Given the description of an element on the screen output the (x, y) to click on. 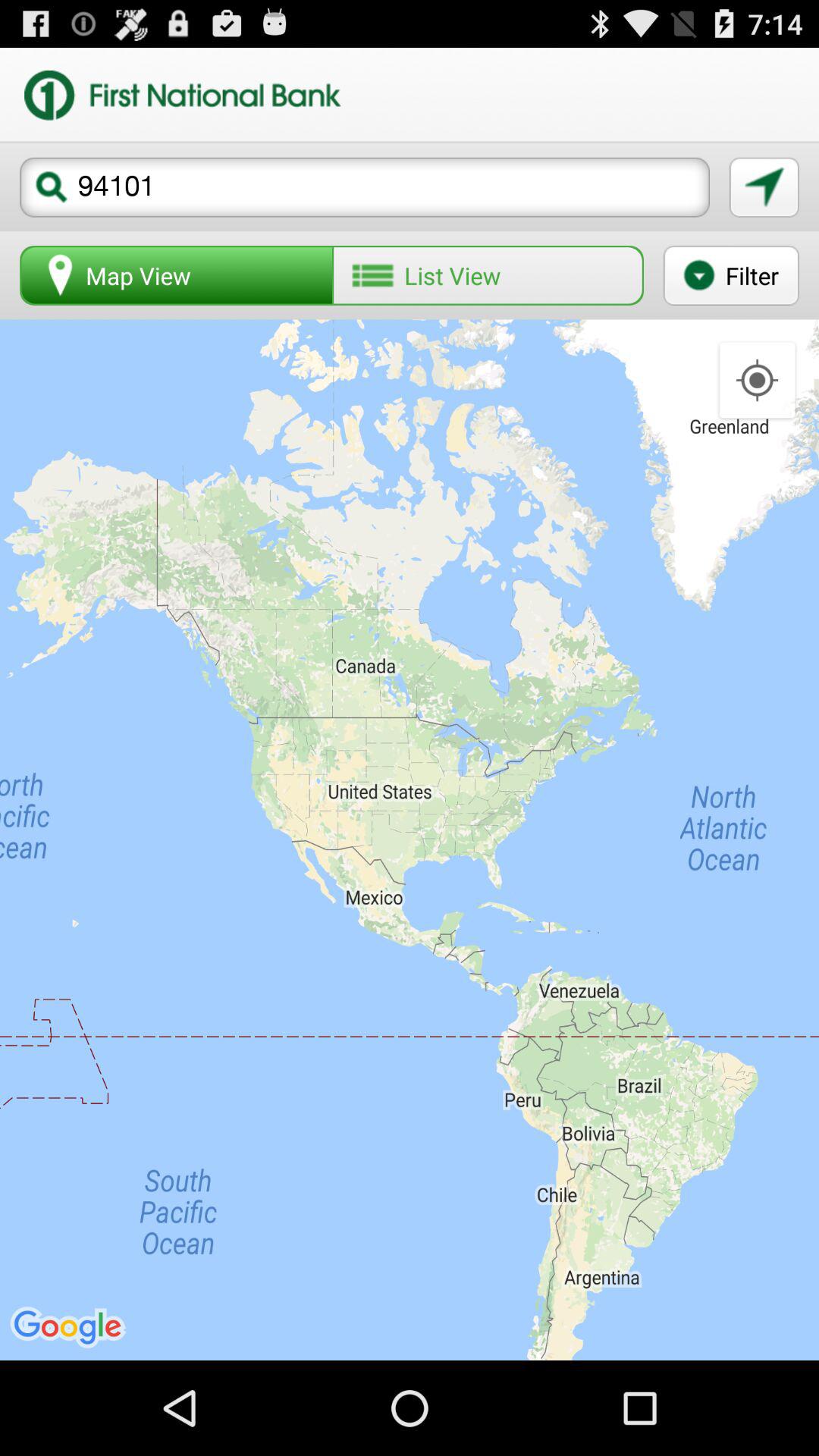
choose the icon to the right of list view icon (731, 275)
